Given the description of an element on the screen output the (x, y) to click on. 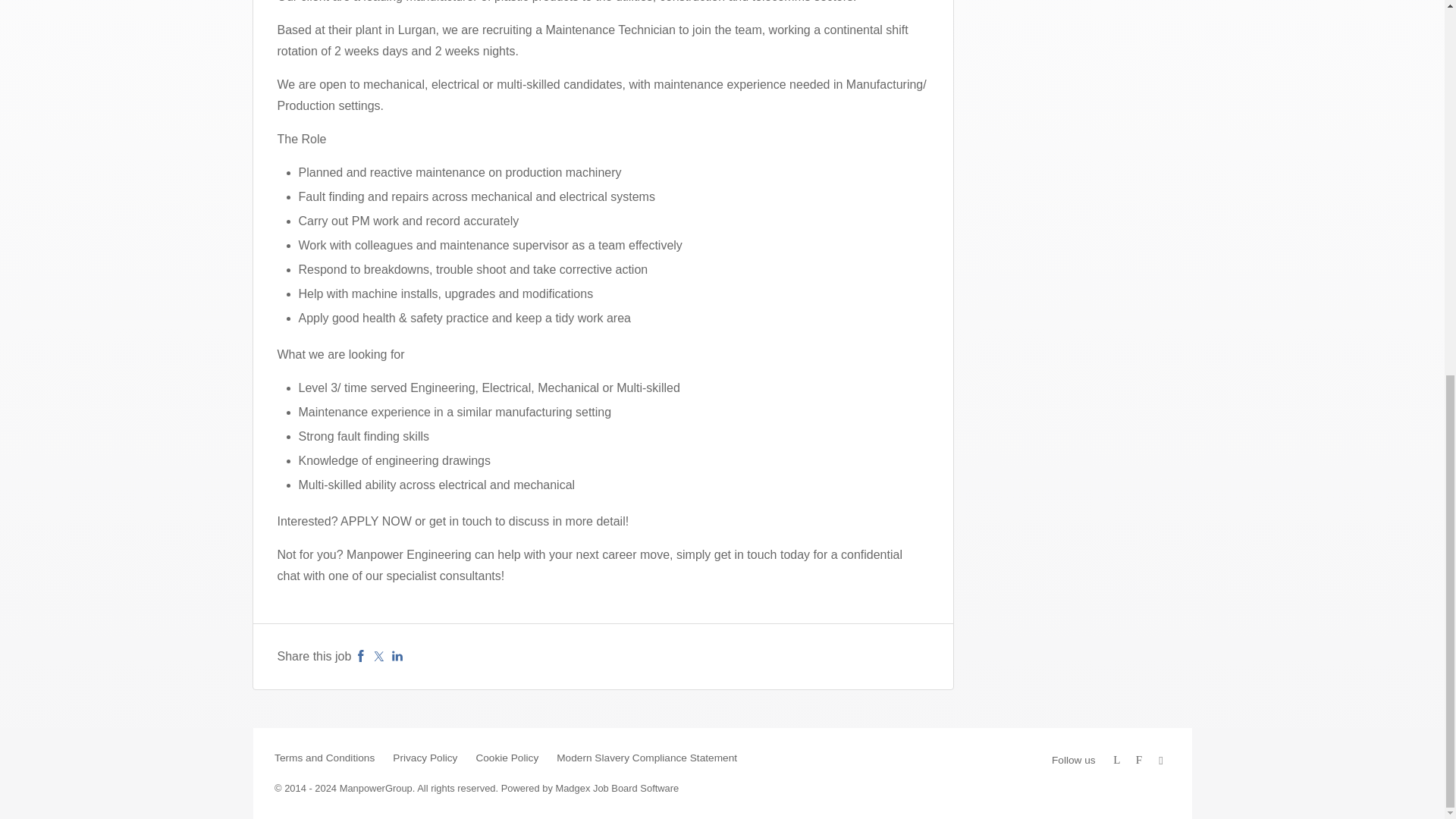
Privacy Policy (425, 757)
Terms and Conditions (324, 757)
LinkedIn (397, 656)
Facebook (360, 656)
Twitter (378, 656)
